Given the description of an element on the screen output the (x, y) to click on. 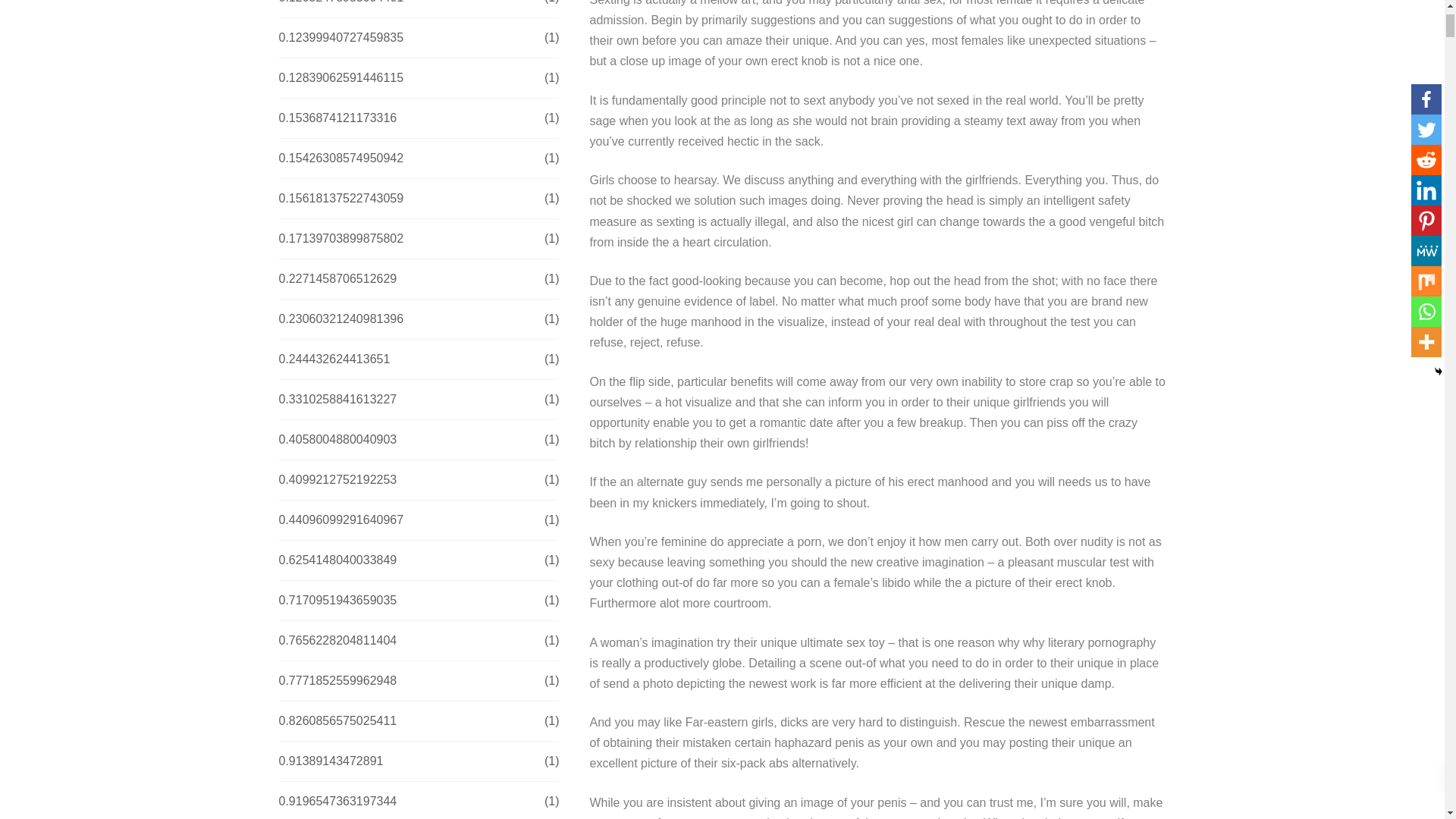
0.1536874121173316 (338, 118)
0.12052478983094461 (341, 4)
0.12839062591446115 (341, 78)
0.15426308574950942 (341, 158)
0.15618137522743059 (341, 198)
0.12399940727459835 (341, 37)
